Given the description of an element on the screen output the (x, y) to click on. 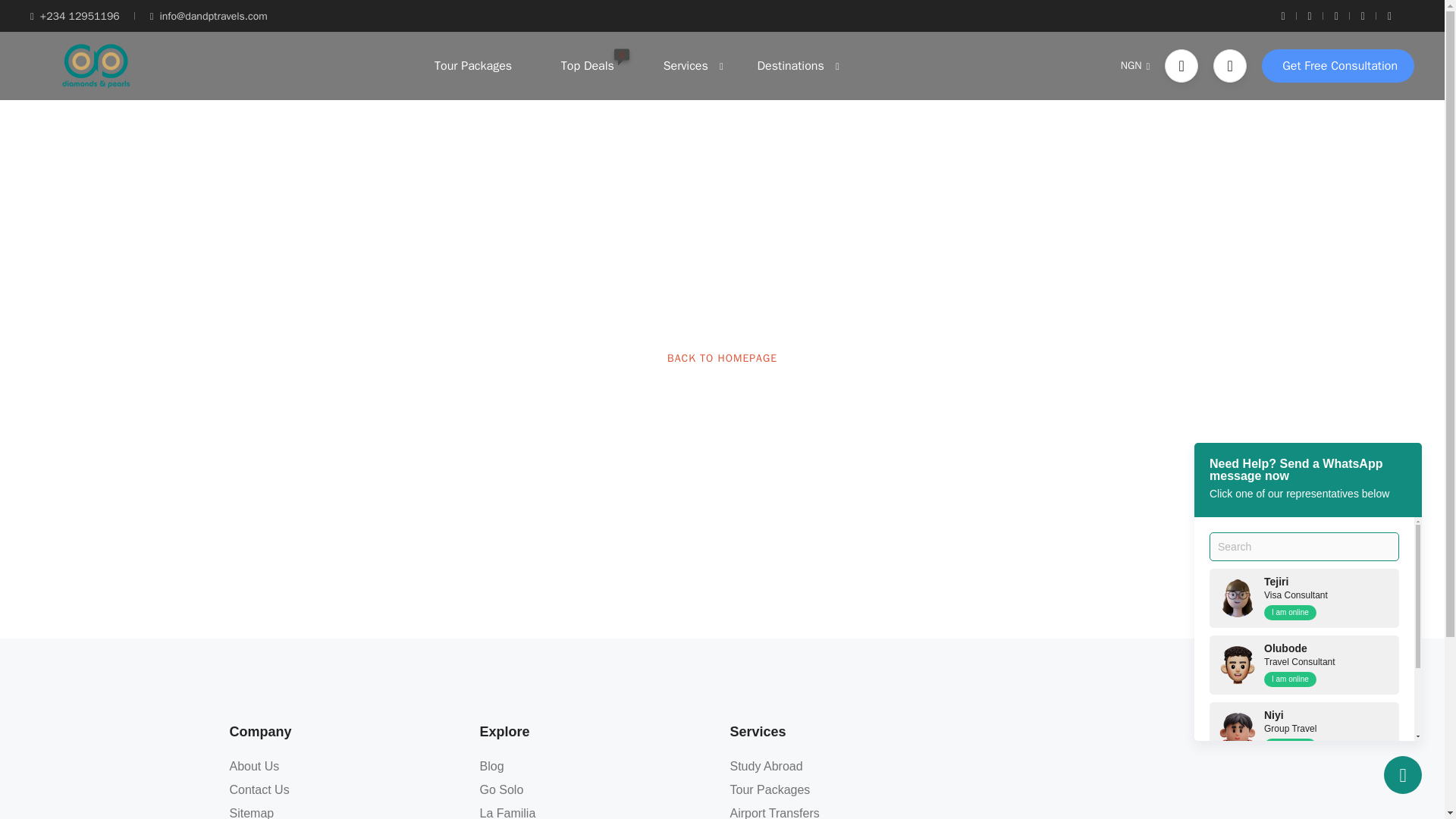
Destinations (791, 65)
Services (685, 65)
Top Deals (587, 65)
Tour Packages (473, 65)
6 Mike Adegbite Ave, Lekki Phase I, Lagos 106104, Lagos (1096, 770)
